Given the description of an element on the screen output the (x, y) to click on. 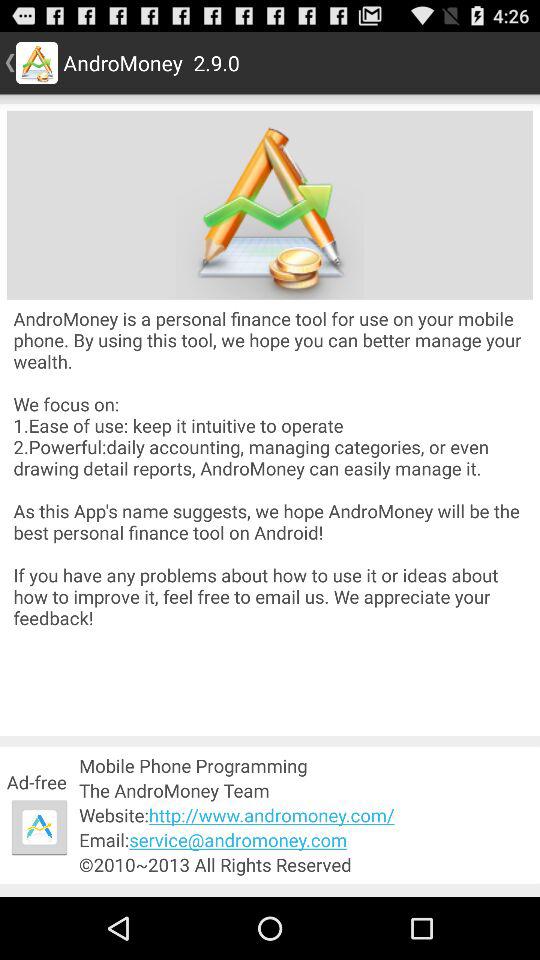
select the item above email service andromoney item (306, 814)
